Given the description of an element on the screen output the (x, y) to click on. 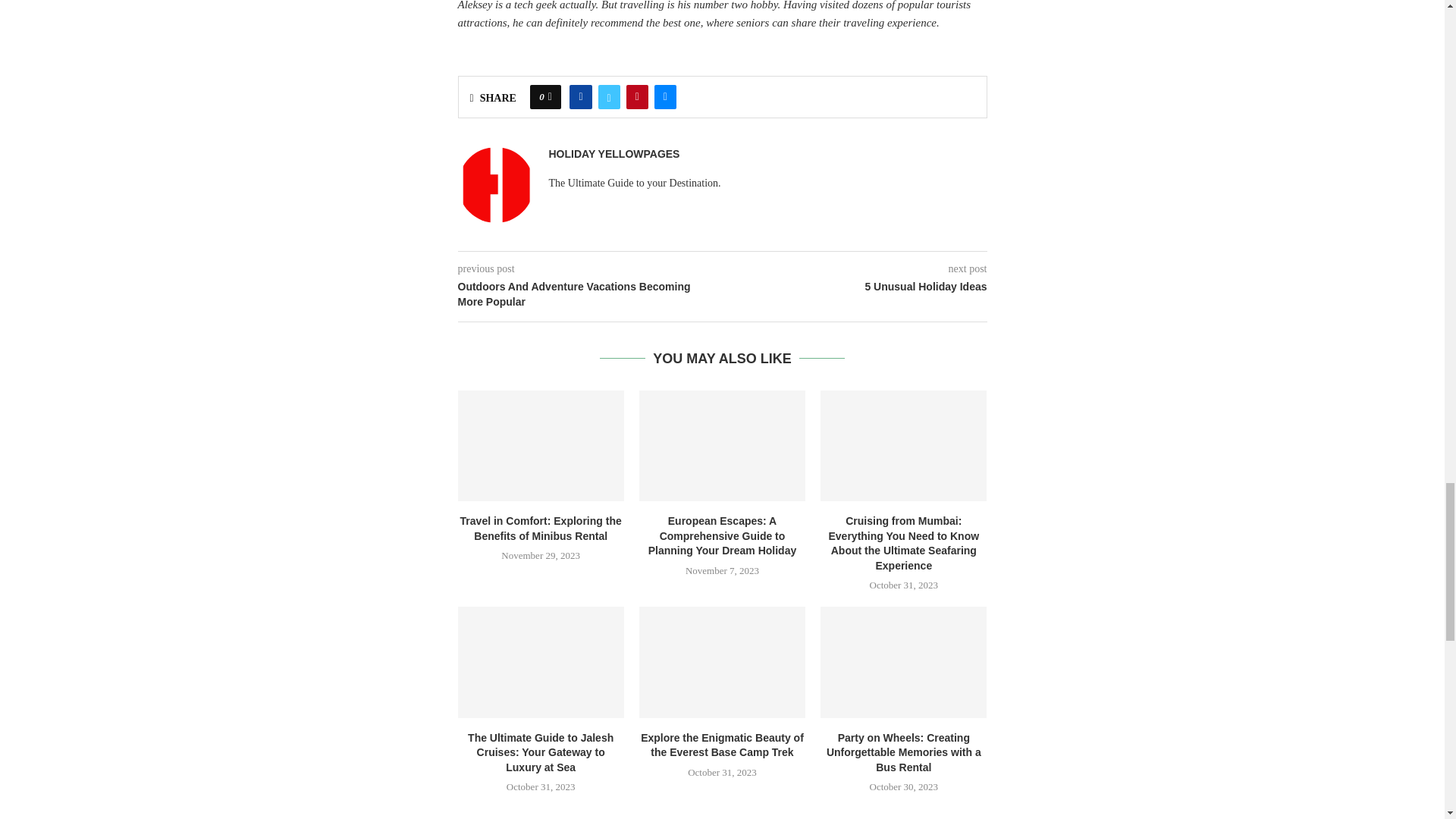
Travel in Comfort: Exploring the Benefits of Minibus Rental (541, 445)
Explore the Enigmatic Beauty of the Everest Base Camp Trek (722, 661)
Author Holiday Yellowpages (613, 154)
